Given the description of an element on the screen output the (x, y) to click on. 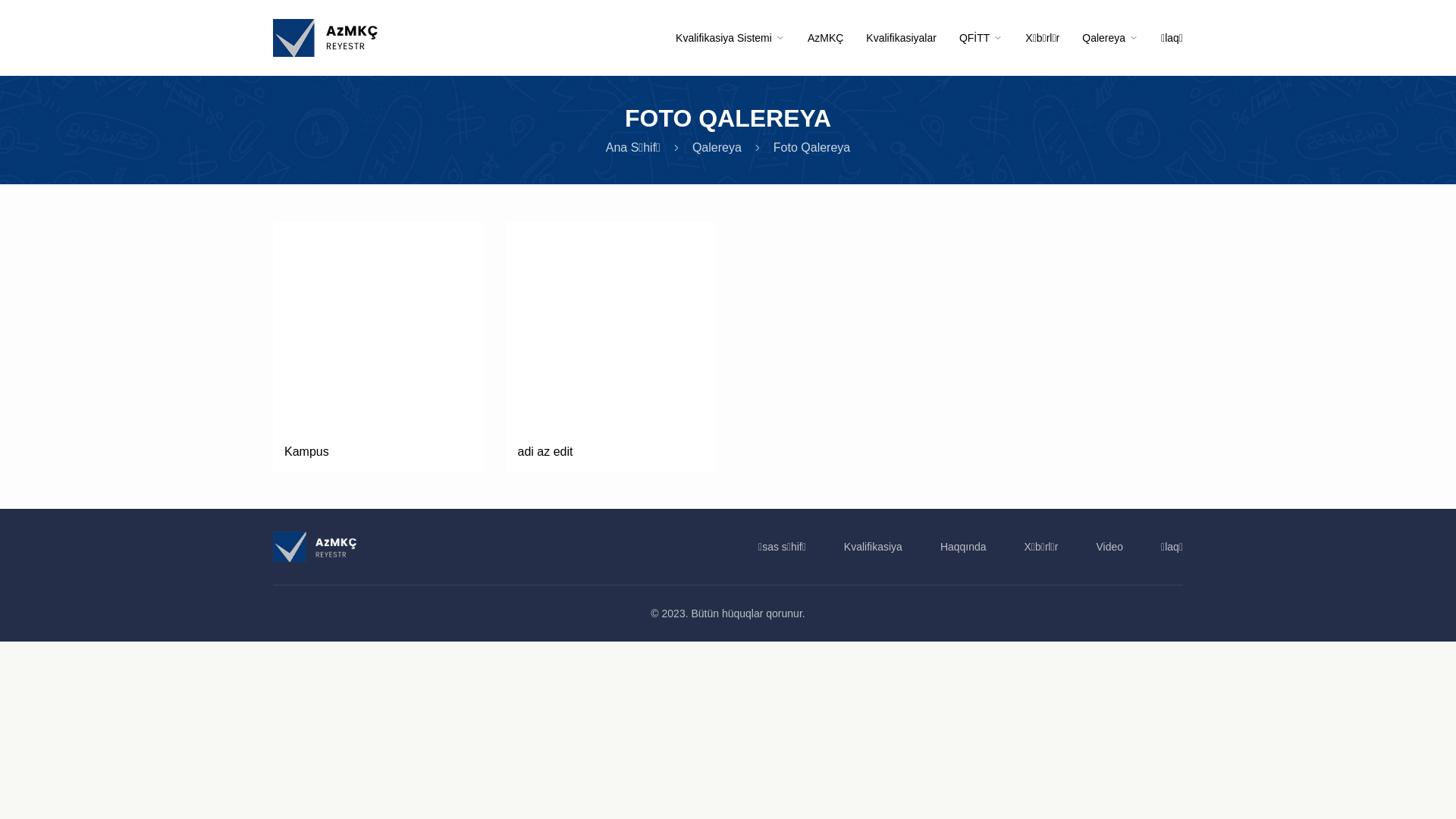
Kvalifikasiya Sistemi Element type: text (729, 37)
Qalereya Element type: text (716, 147)
AZQF Element type: hover (315, 545)
Kvalifikasiyalar Element type: text (901, 37)
Kvalifikasiya Element type: text (873, 545)
Kampus Element type: text (378, 346)
Video Element type: text (1109, 545)
adi az edit Element type: text (611, 346)
Qalereya Element type: text (1110, 37)
